Given the description of an element on the screen output the (x, y) to click on. 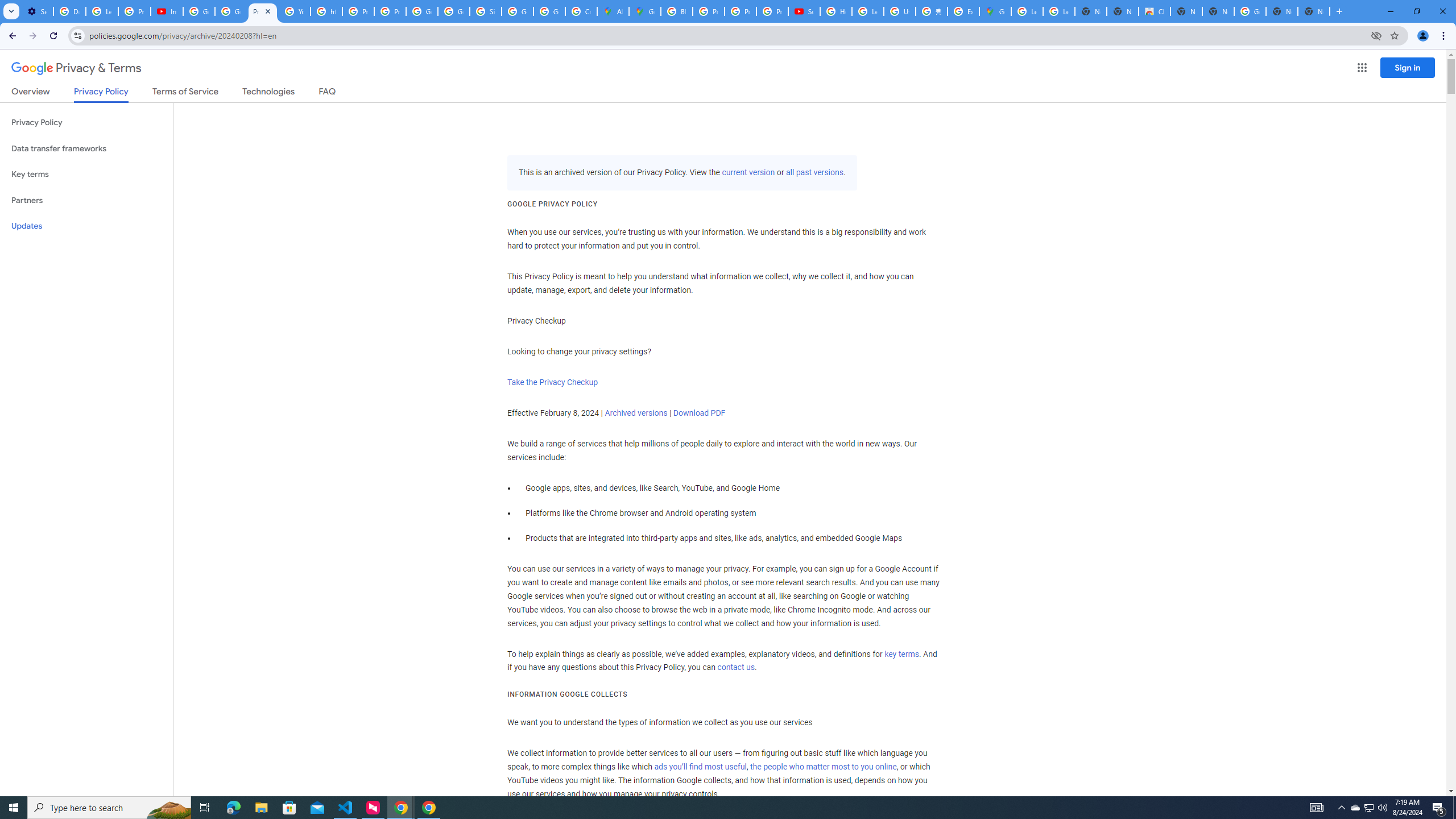
Settings - Customize profile (37, 11)
Sign in - Google Accounts (485, 11)
current version (748, 172)
Subscriptions - YouTube (804, 11)
Chrome Web Store (1154, 11)
Archived versions (636, 412)
Google Account Help (198, 11)
New Tab (1313, 11)
Google Maps (644, 11)
